Given the description of an element on the screen output the (x, y) to click on. 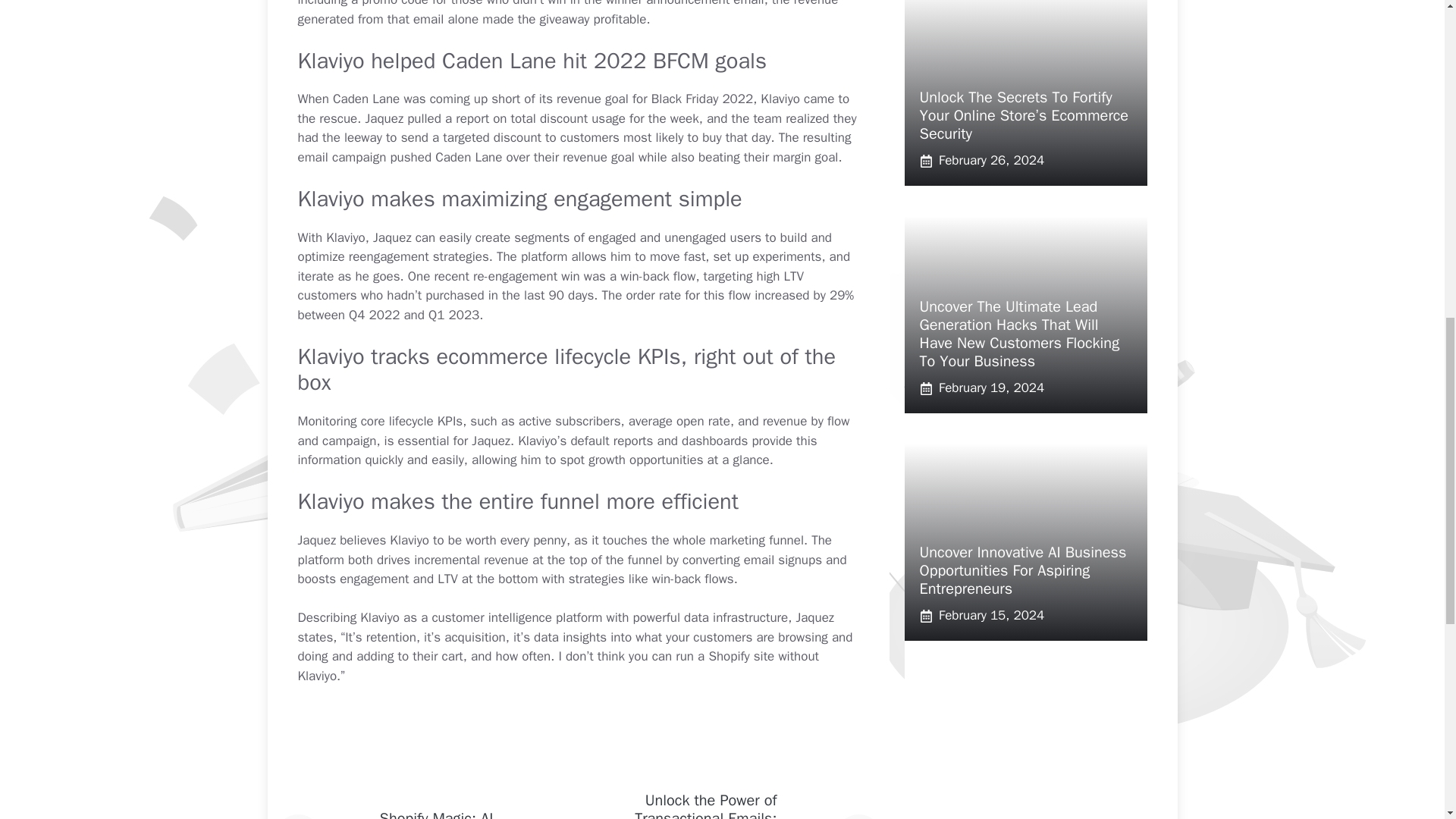
Scroll back to top (1406, 720)
Shopify Magic: AI-Powered Product Descriptions (437, 814)
